Given the description of an element on the screen output the (x, y) to click on. 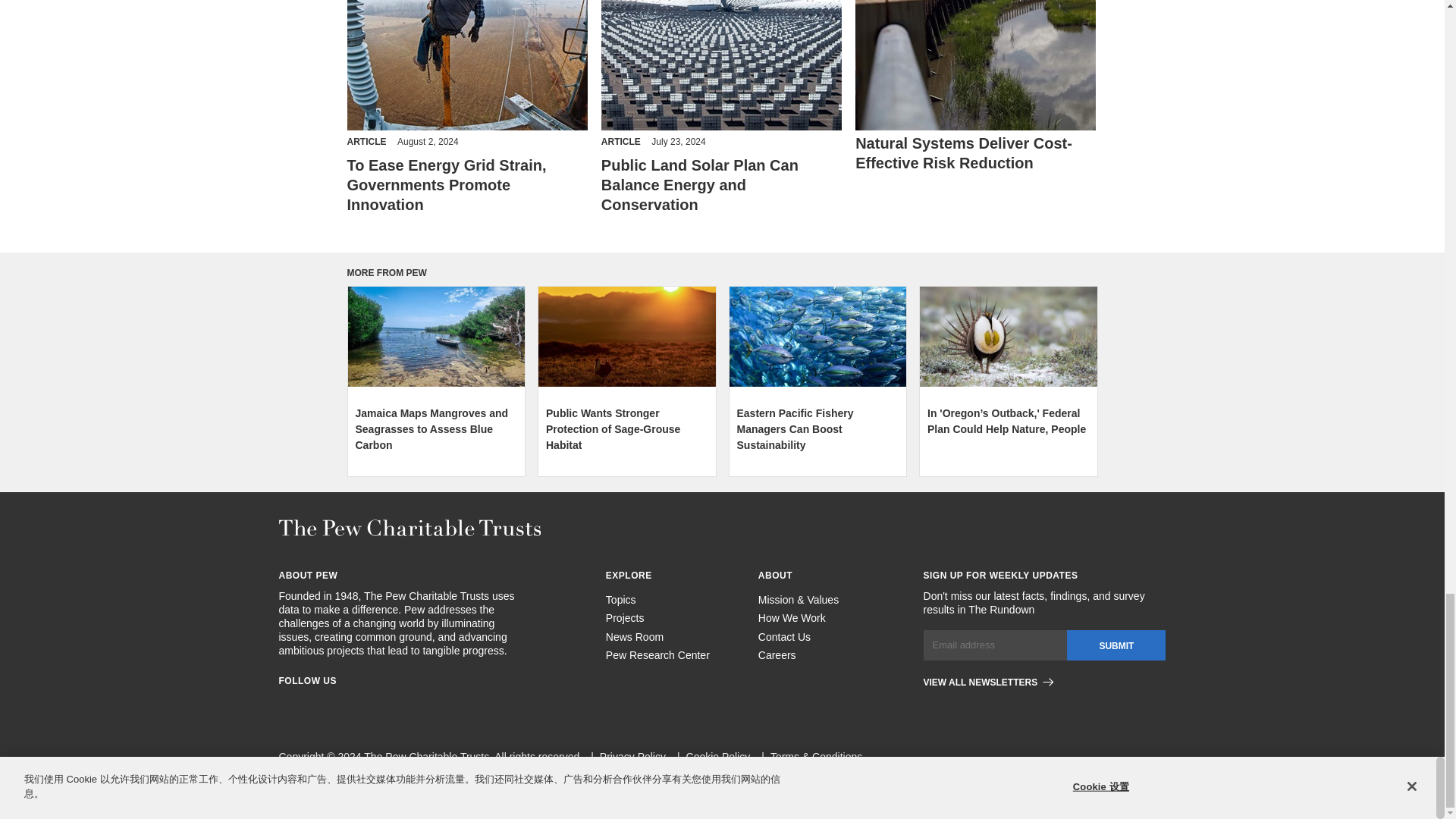
Solar panels in a desert in front of a mountain (721, 65)
